Given the description of an element on the screen output the (x, y) to click on. 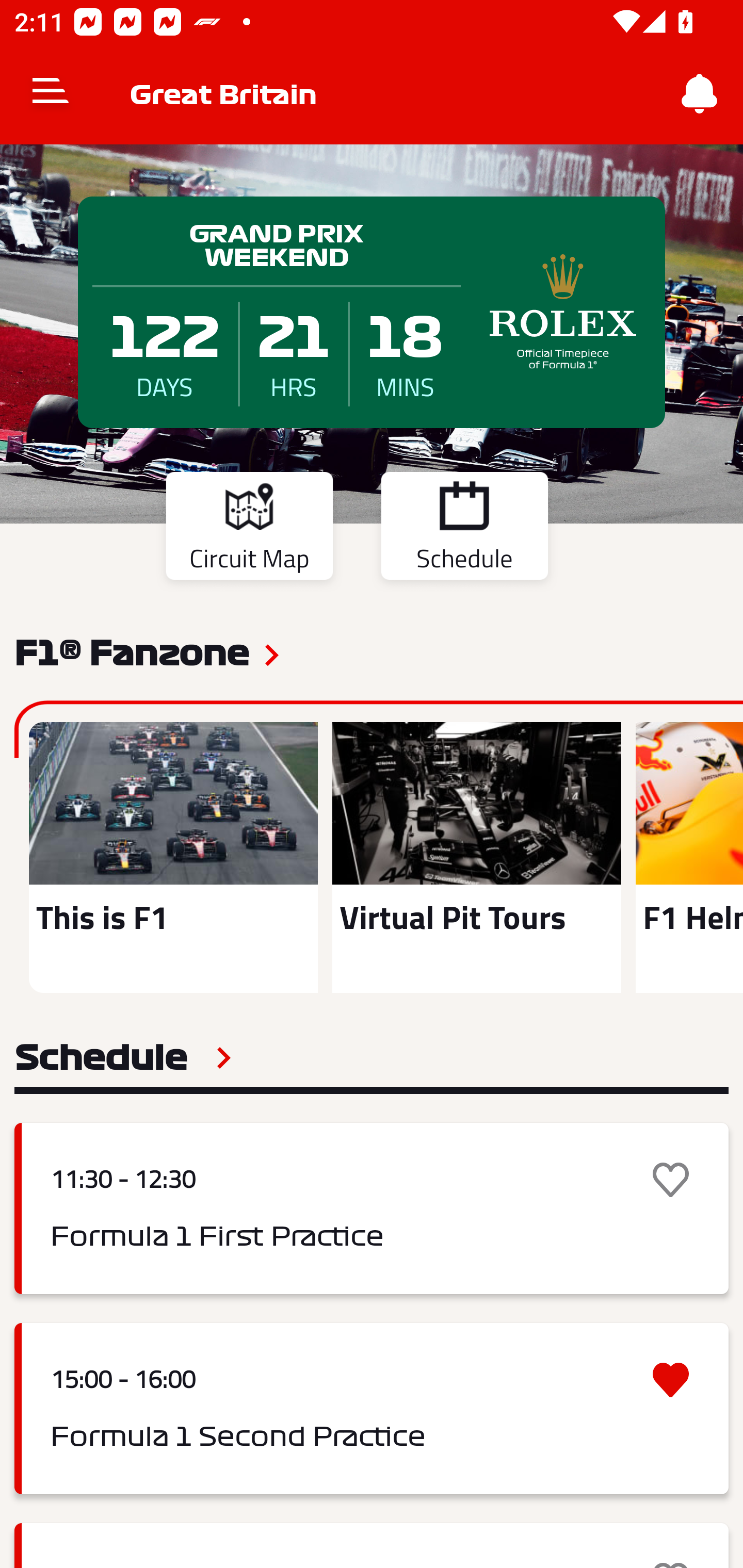
Navigate up (50, 93)
Notifications (699, 93)
Circuit Map (249, 528)
Schedule (464, 528)
F1® Fanzone (131, 651)
This is F1 (173, 857)
Virtual Pit Tours (476, 857)
Schedule (122, 1057)
11:30 - 12:30 Formula 1 First Practice (371, 1207)
15:00 - 16:00 Formula 1 Second Practice (371, 1408)
